Given the description of an element on the screen output the (x, y) to click on. 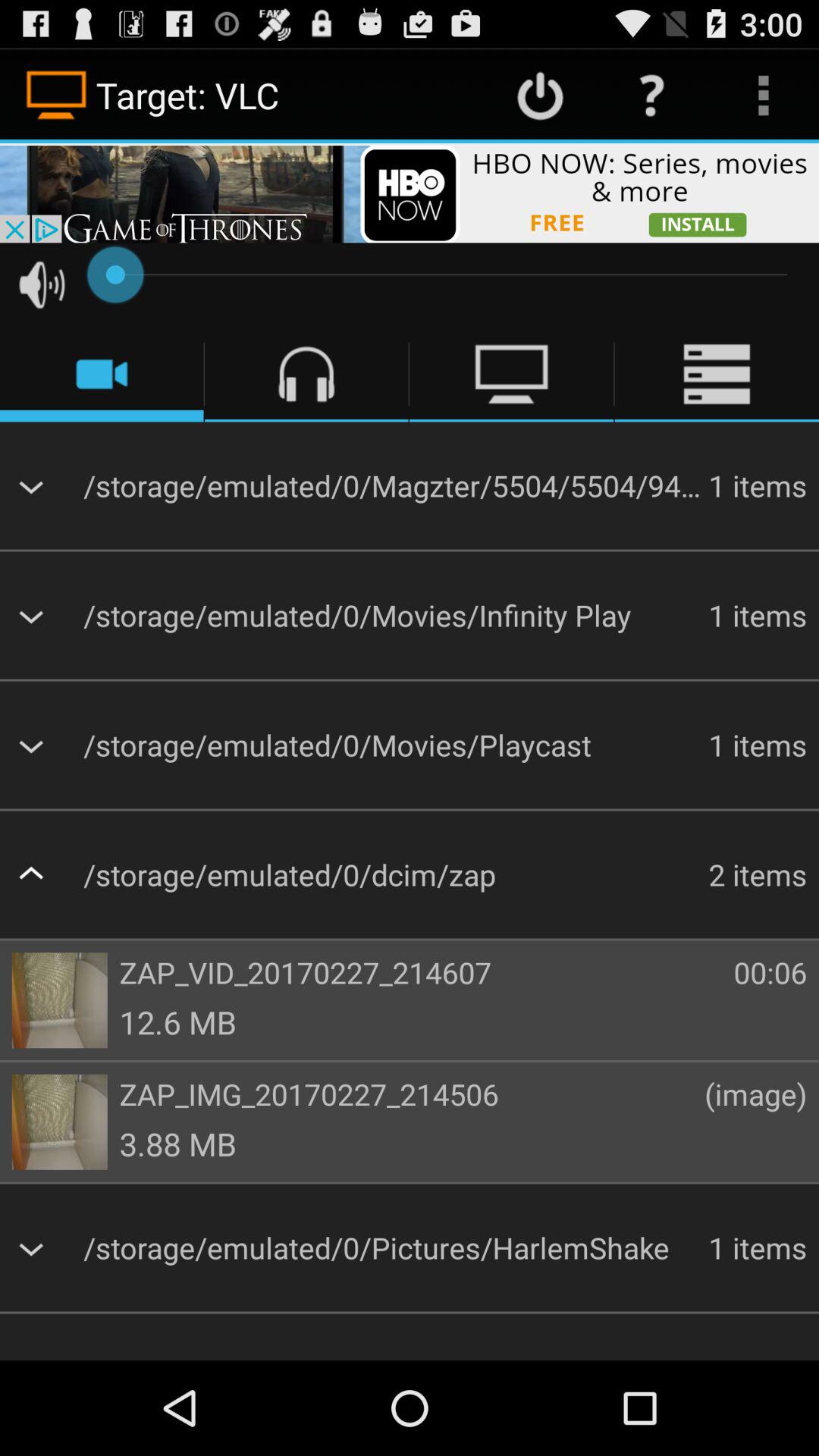
go to advertisement page (409, 192)
